Given the description of an element on the screen output the (x, y) to click on. 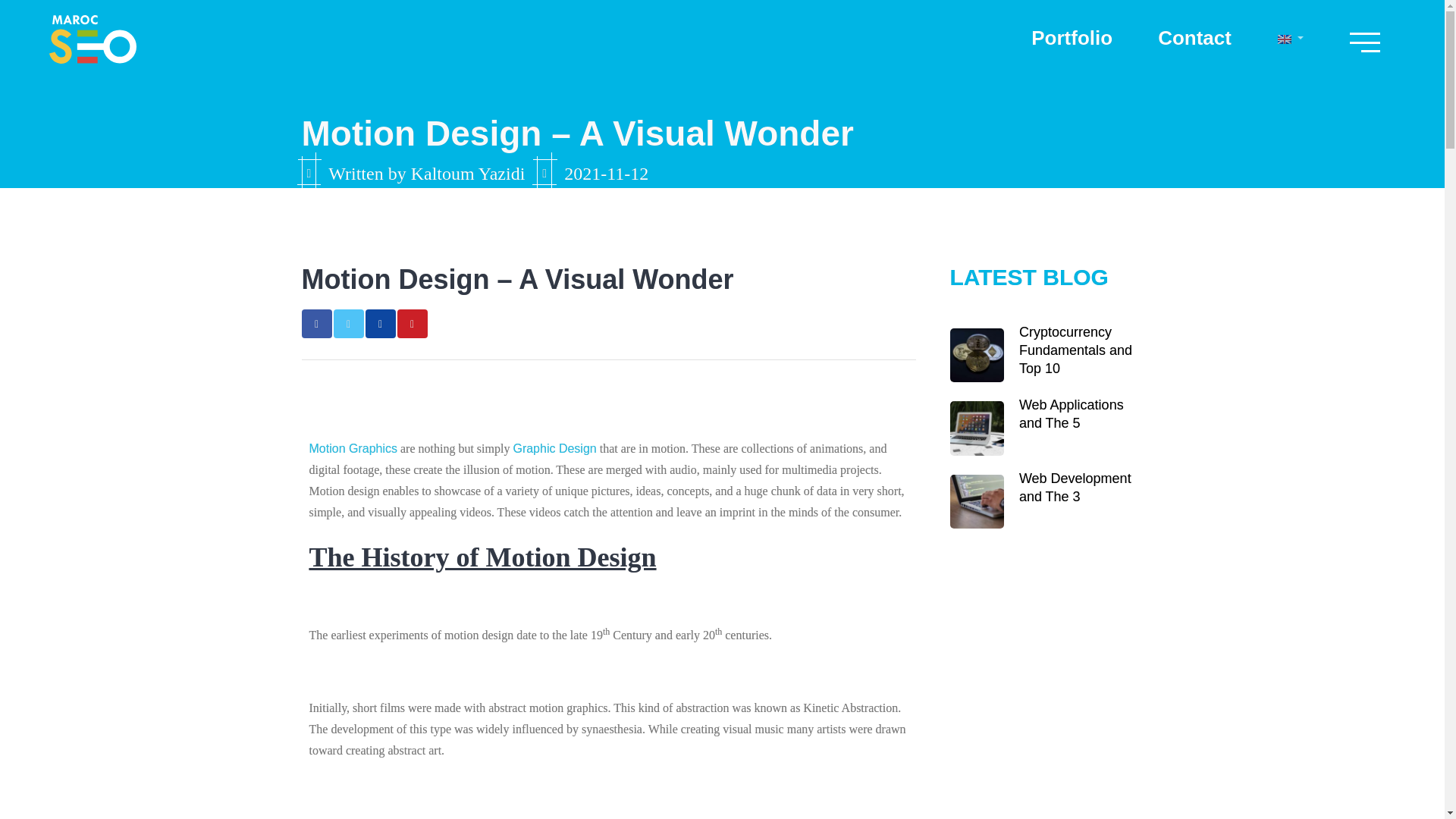
Portfolio (1071, 37)
Contact (1194, 37)
English (1284, 39)
